Given the description of an element on the screen output the (x, y) to click on. 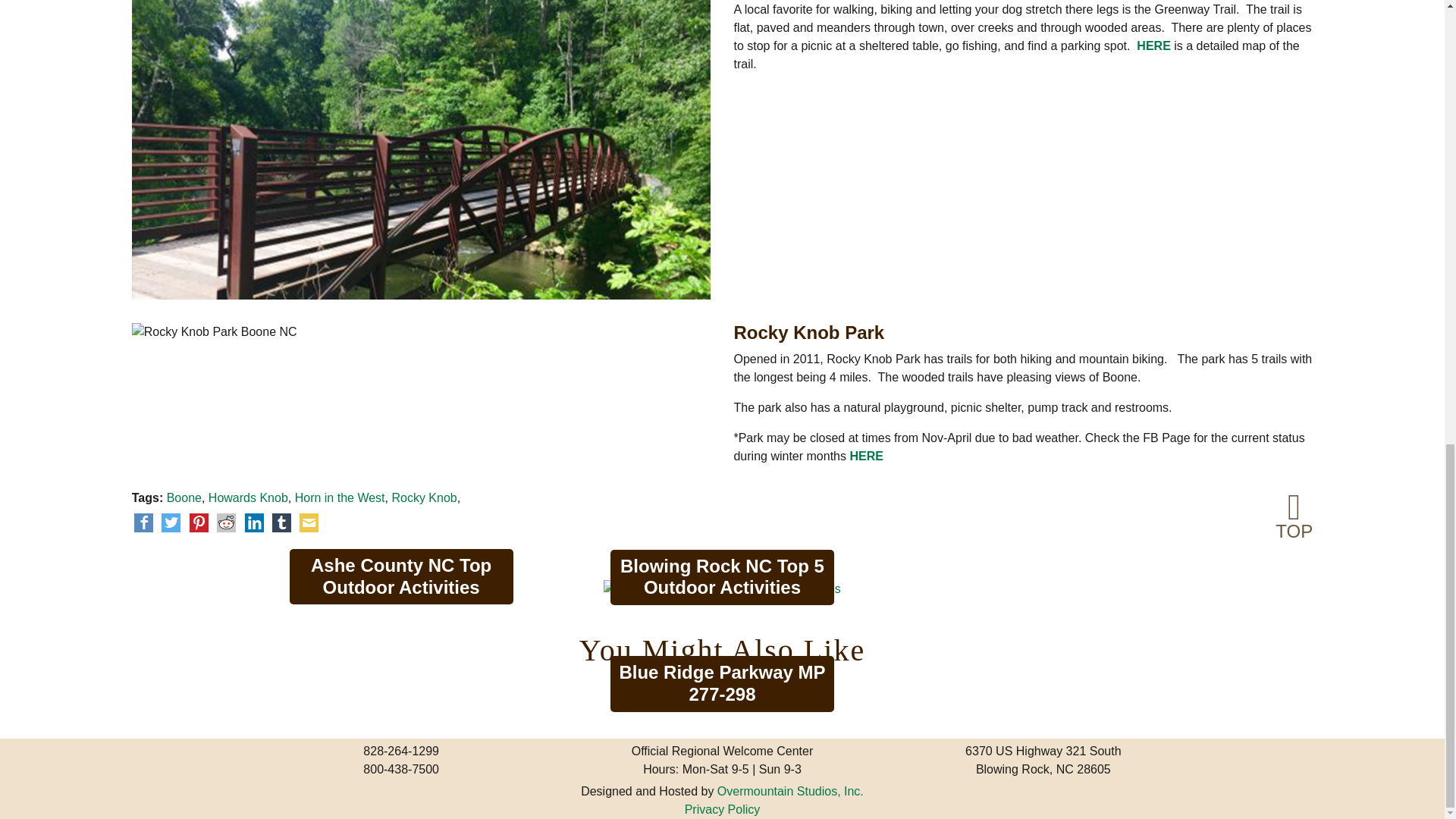
HERE (865, 455)
Blue Ridge Parkway MP 277-298 (721, 695)
Blowing Rock NC Top 5 Outdoor Activities (722, 588)
Boone (184, 497)
Horn in the West (340, 497)
Rocky Knob (424, 497)
HERE (1153, 45)
HERE (865, 455)
Howards Knob (248, 497)
HERE (1153, 45)
